Given the description of an element on the screen output the (x, y) to click on. 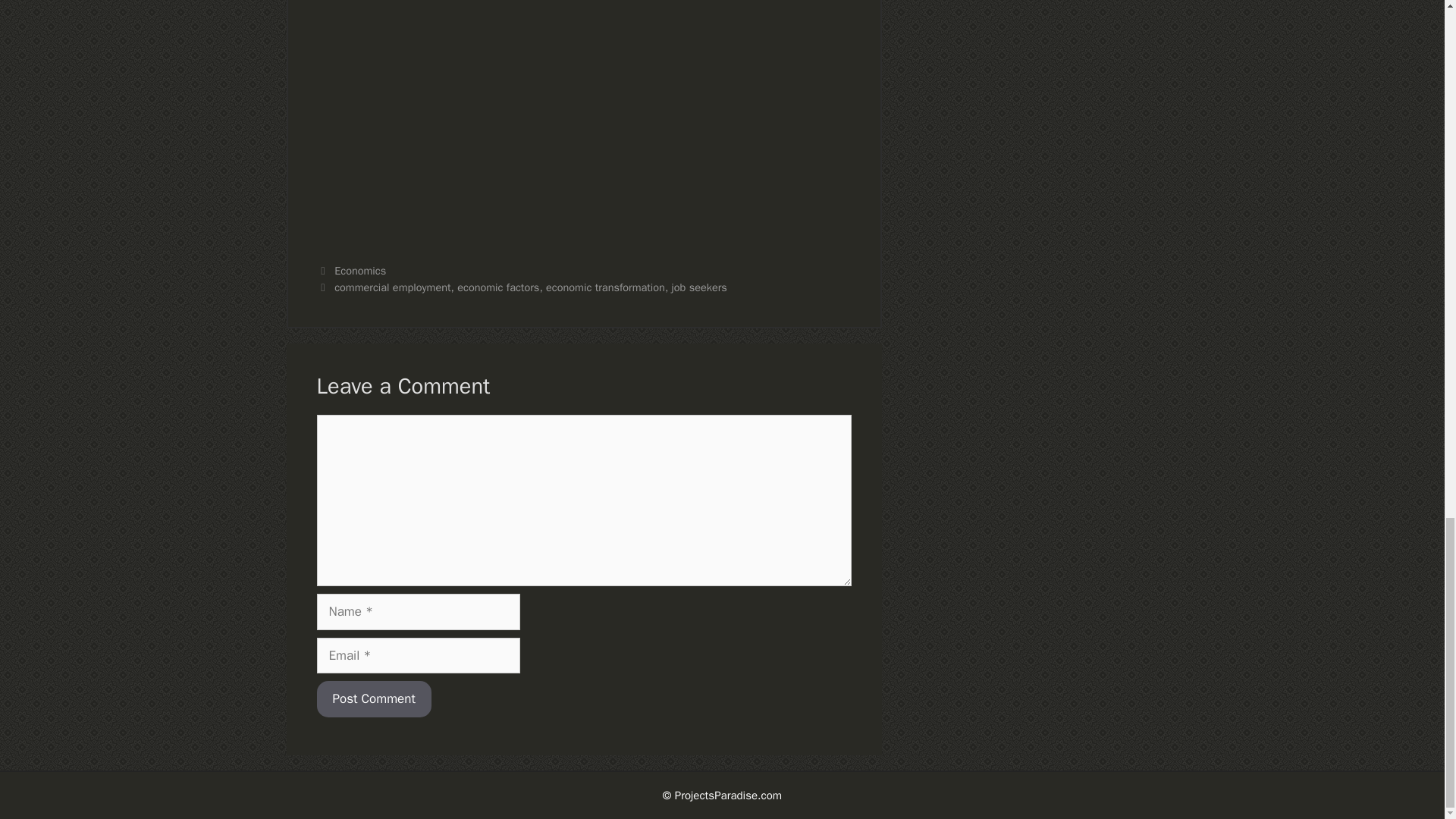
economic factors (497, 287)
Economics (359, 270)
Post Comment (373, 698)
job seekers (698, 287)
Post Comment (373, 698)
economic transformation (605, 287)
commercial employment (391, 287)
